Given the description of an element on the screen output the (x, y) to click on. 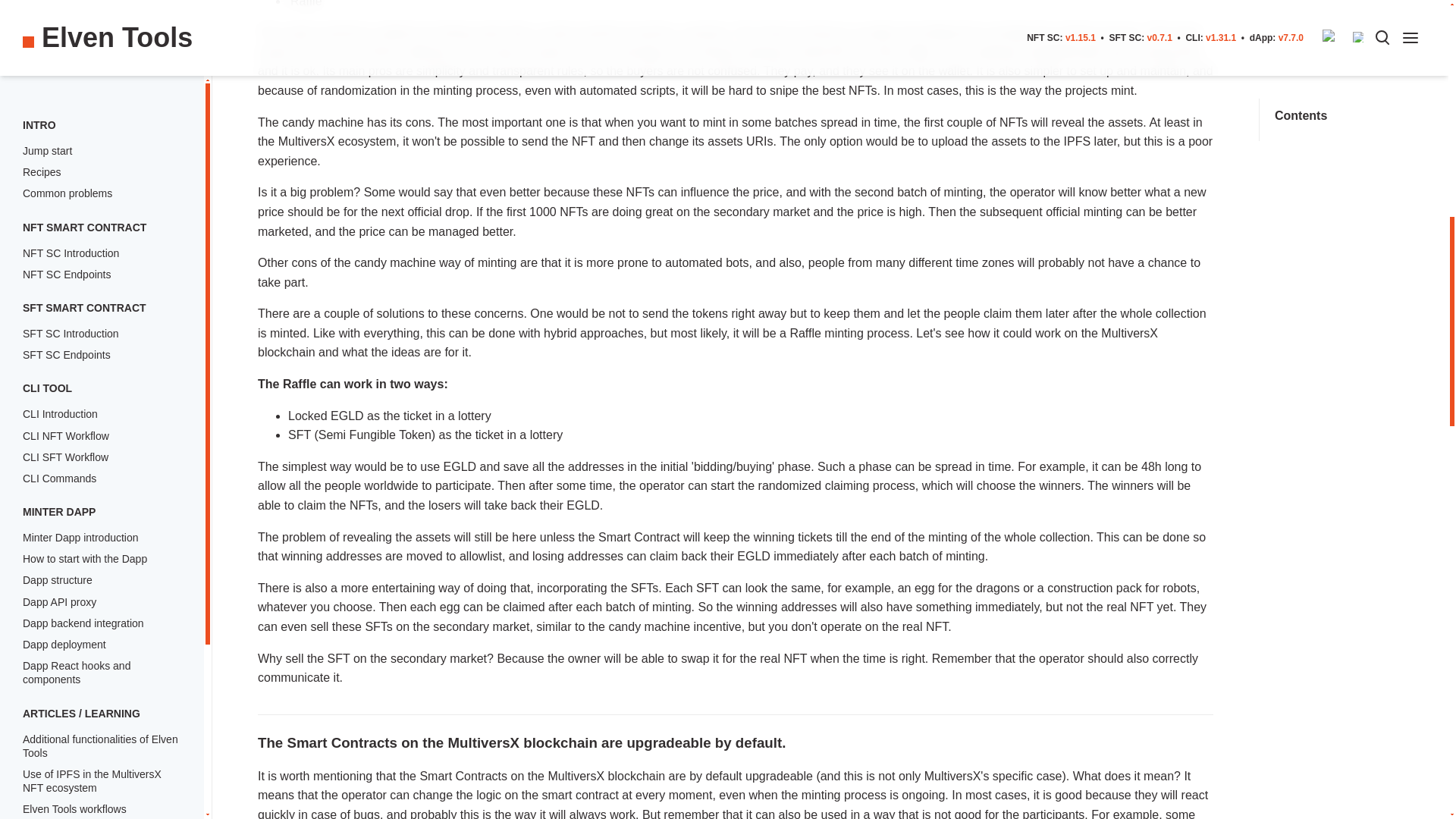
How to start with the Multiversx blockchain development (101, 155)
Linux environment for development (101, 112)
Tips on buying NFTs on the MultiversX blockchain (87, 18)
MultiversX's Dev Inventory (101, 84)
